Given the description of an element on the screen output the (x, y) to click on. 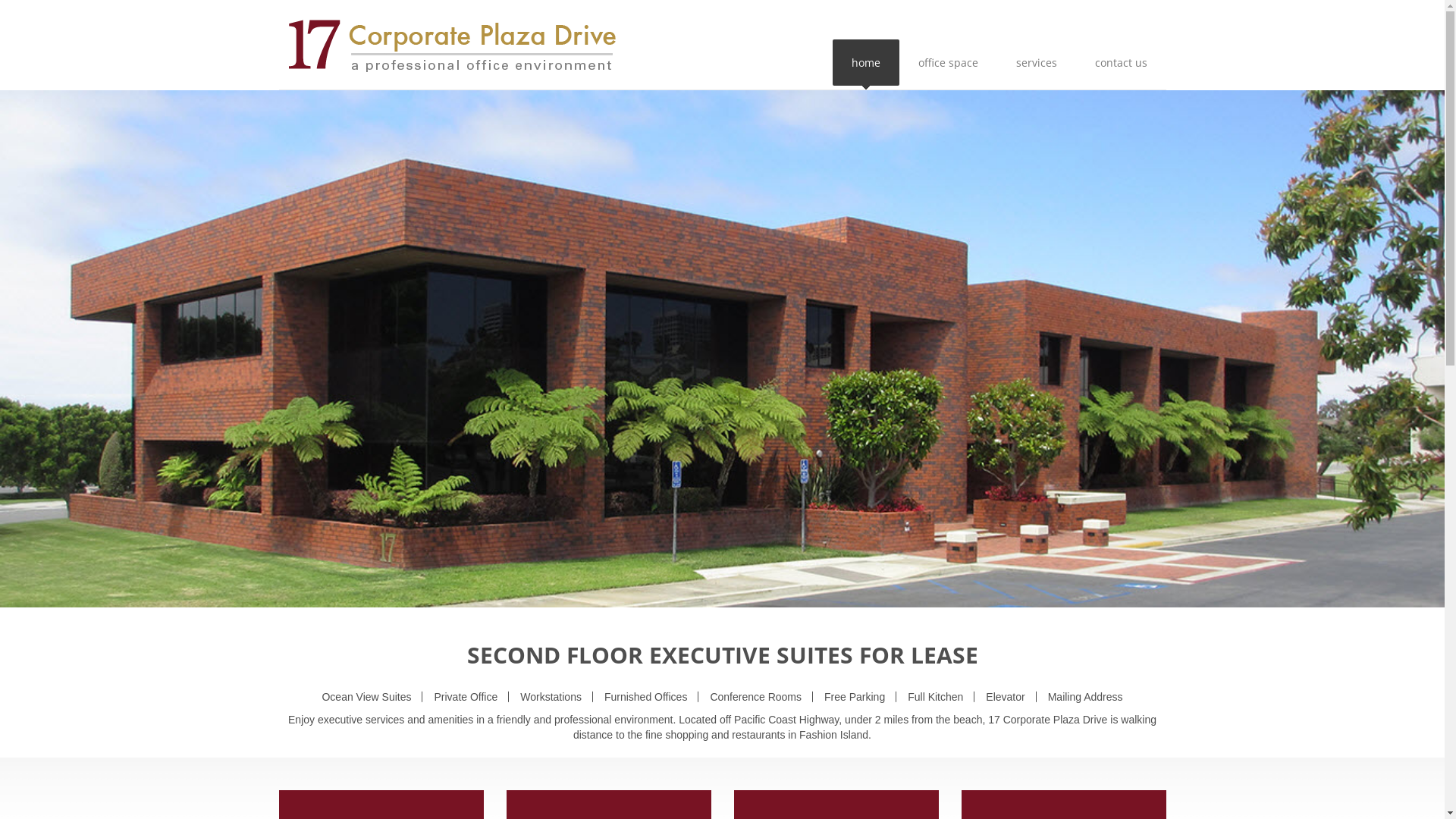
home Element type: text (865, 62)
services Element type: text (1035, 62)
office space Element type: text (948, 62)
SECOND FLOOR EXECUTIVE SUITES FOR LEASE Element type: text (722, 654)
contact us Element type: text (1120, 62)
